Given the description of an element on the screen output the (x, y) to click on. 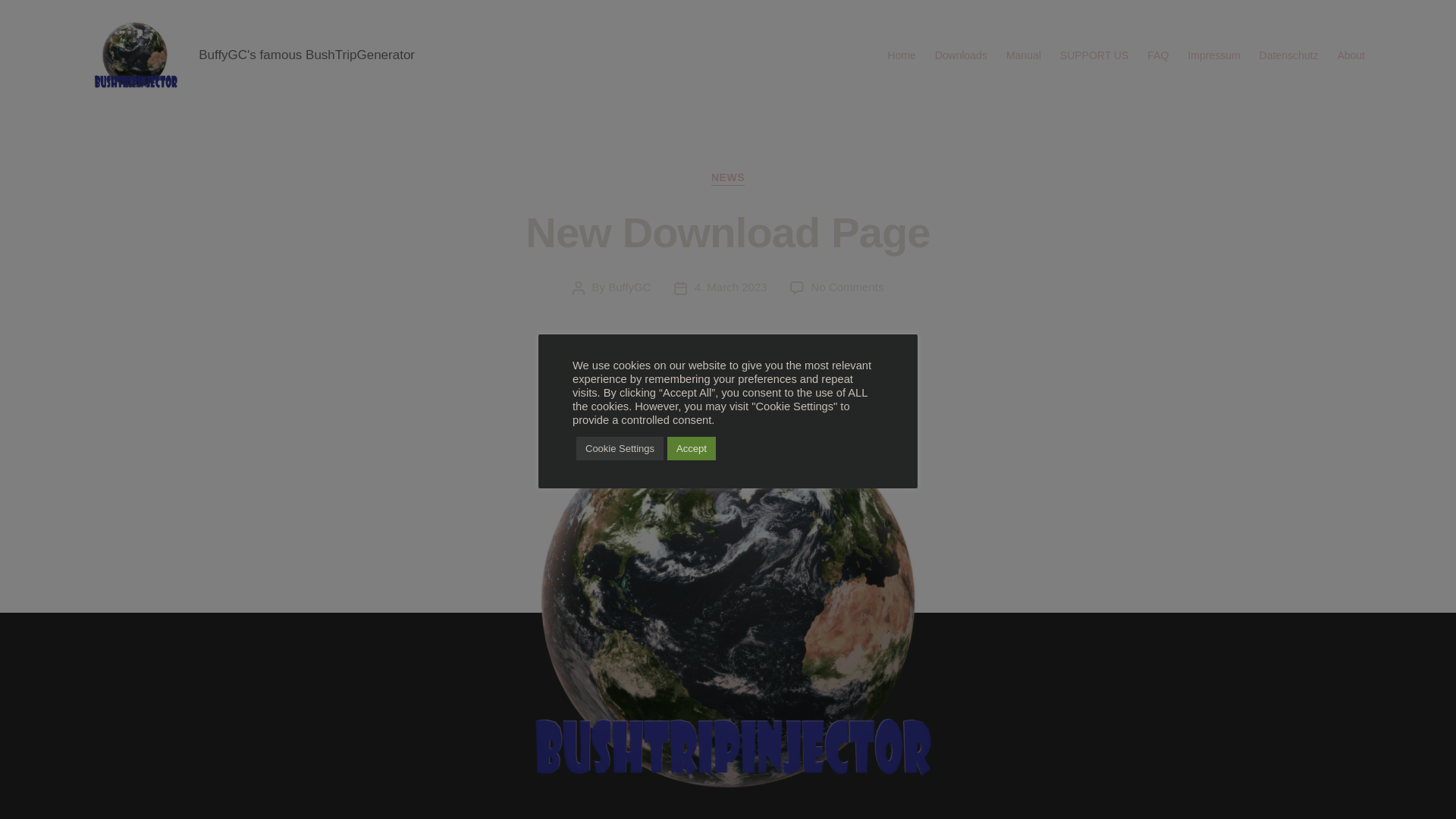
4. March 2023 (730, 286)
Impressum (846, 286)
BuffyGC (1214, 55)
Manual (629, 286)
Cookie Settings (1023, 55)
SUPPORT US (619, 448)
About (1094, 55)
Datenschutz (1350, 55)
Downloads (1289, 55)
NEWS (960, 55)
FAQ (727, 178)
Home (1158, 55)
Accept (900, 55)
